Given the description of an element on the screen output the (x, y) to click on. 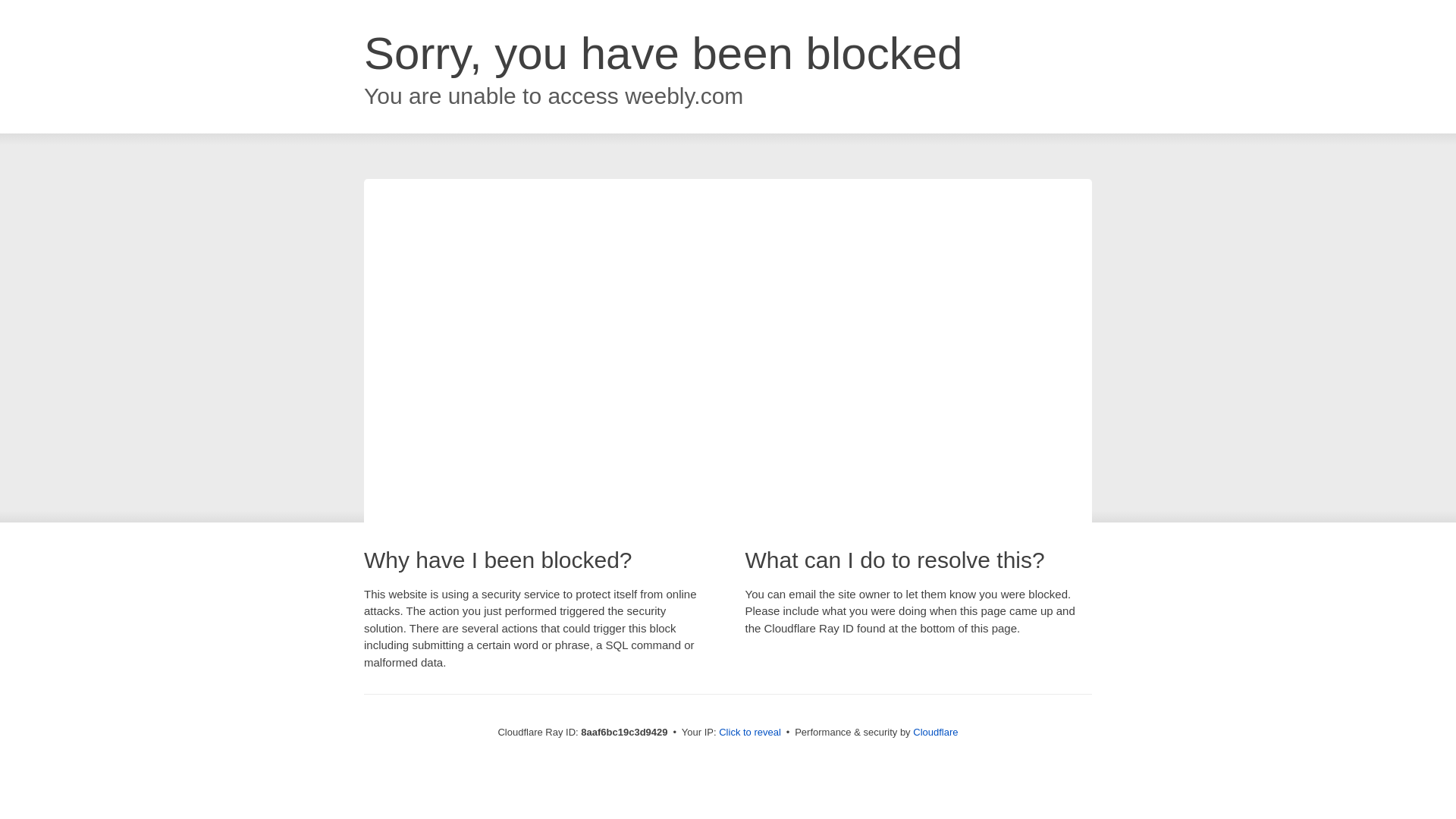
Click to reveal (749, 732)
Cloudflare (935, 731)
